Given the description of an element on the screen output the (x, y) to click on. 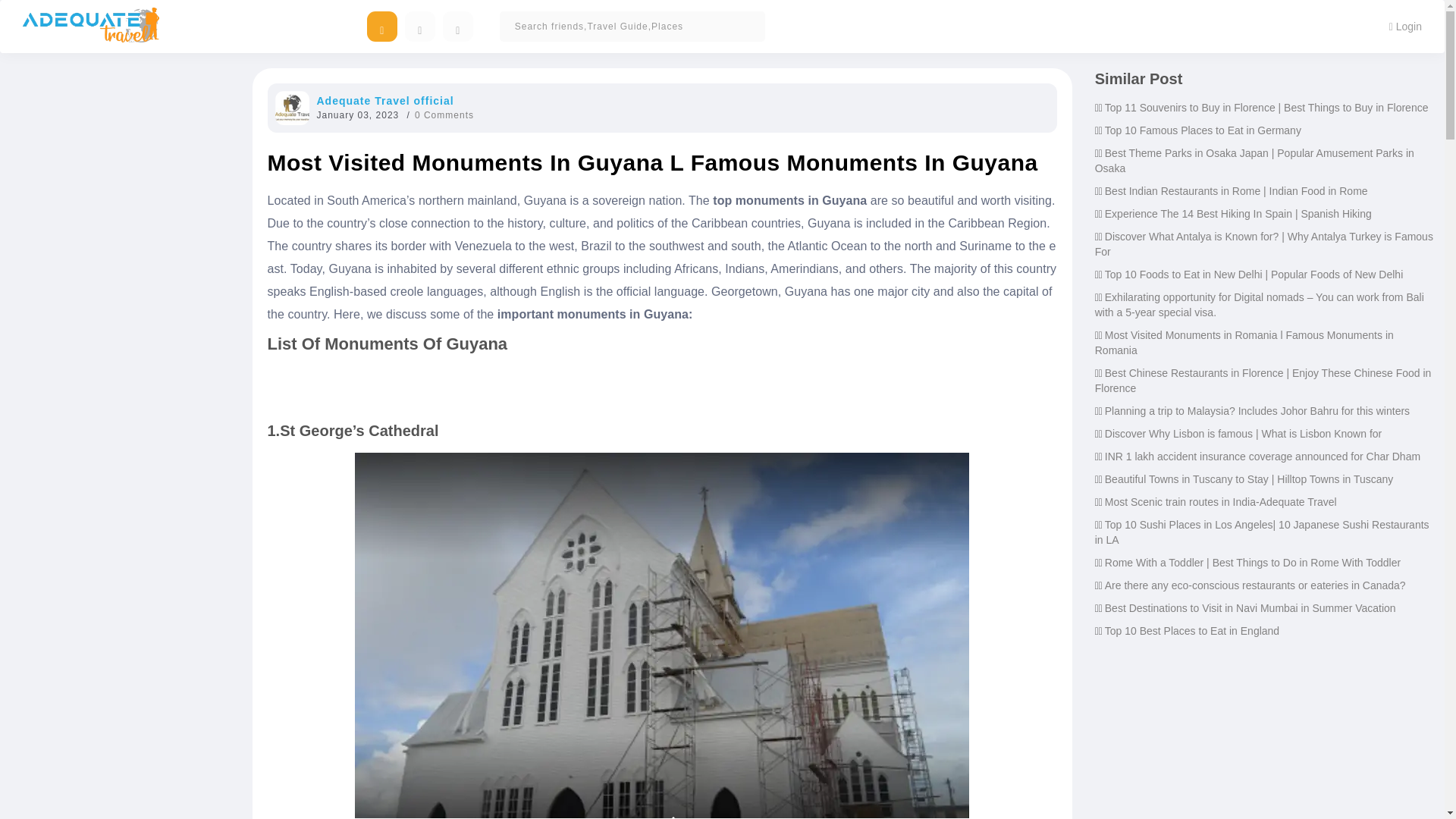
Adequate Travel official (385, 101)
Login (1404, 26)
0 Comments (444, 114)
Best Destinations to Visit in Navi Mumbai in Summer Vacation (1250, 607)
Most Scenic train routes in India-Adequate Travel (1220, 501)
Top 10 Famous Places to Eat in Germany (1203, 130)
